Given the description of an element on the screen output the (x, y) to click on. 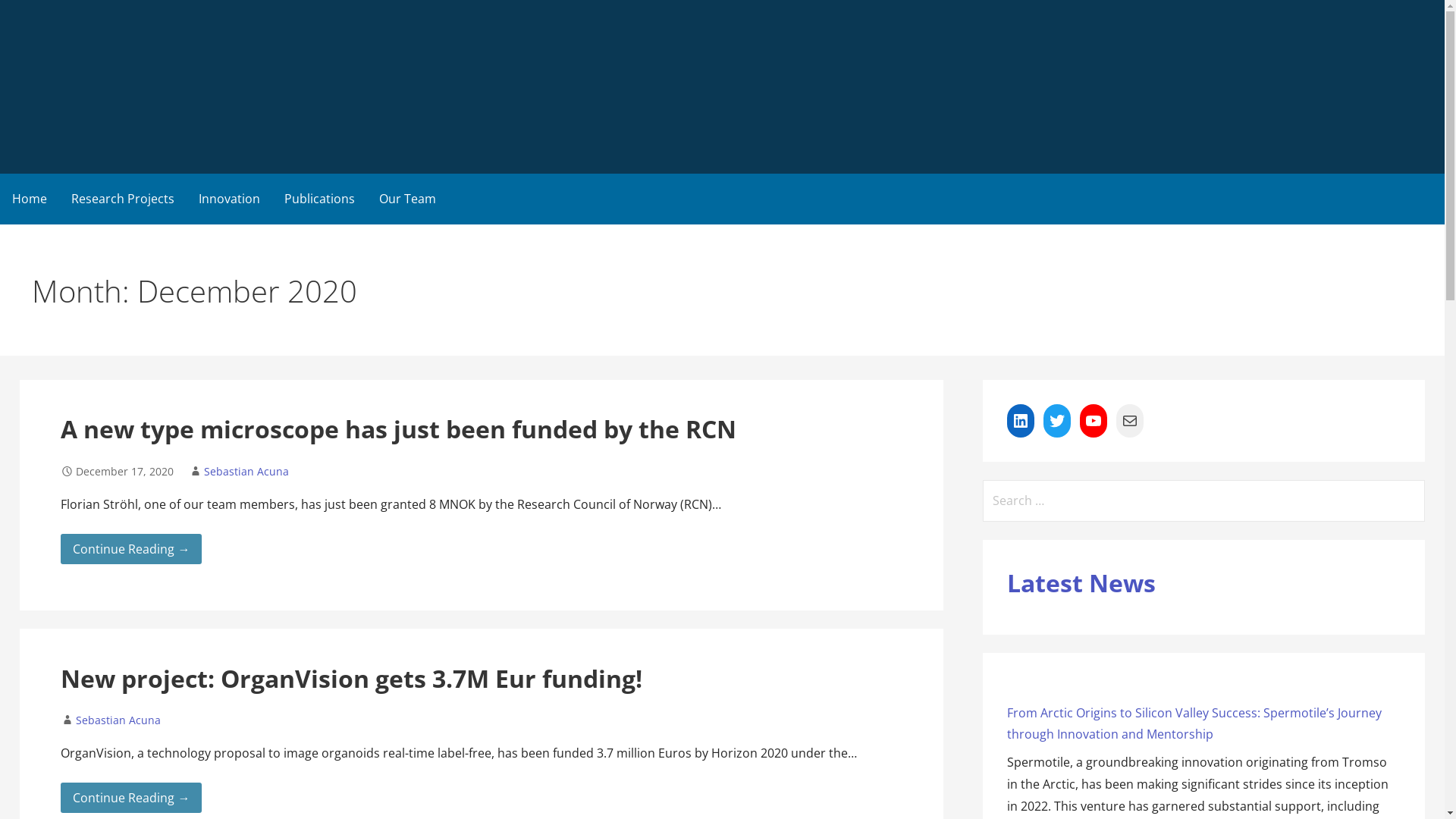
Publications Element type: text (319, 198)
YouTube Element type: text (1093, 420)
Innovation Element type: text (229, 198)
Research Projects Element type: text (122, 198)
Sebastian Acuna Element type: text (245, 471)
LinkedIn Element type: text (1020, 420)
Twitter Element type: text (1056, 420)
Latest News Element type: text (1081, 582)
Search Element type: text (31, 15)
Mail Element type: text (1129, 420)
Our Team Element type: text (407, 198)
A new type microscope has just been funded by the RCN Element type: text (398, 428)
Home Element type: text (29, 198)
Sebastian Acuna Element type: text (117, 719)
New project: OrganVision gets 3.7M Eur funding! Element type: text (351, 678)
